Given the description of an element on the screen output the (x, y) to click on. 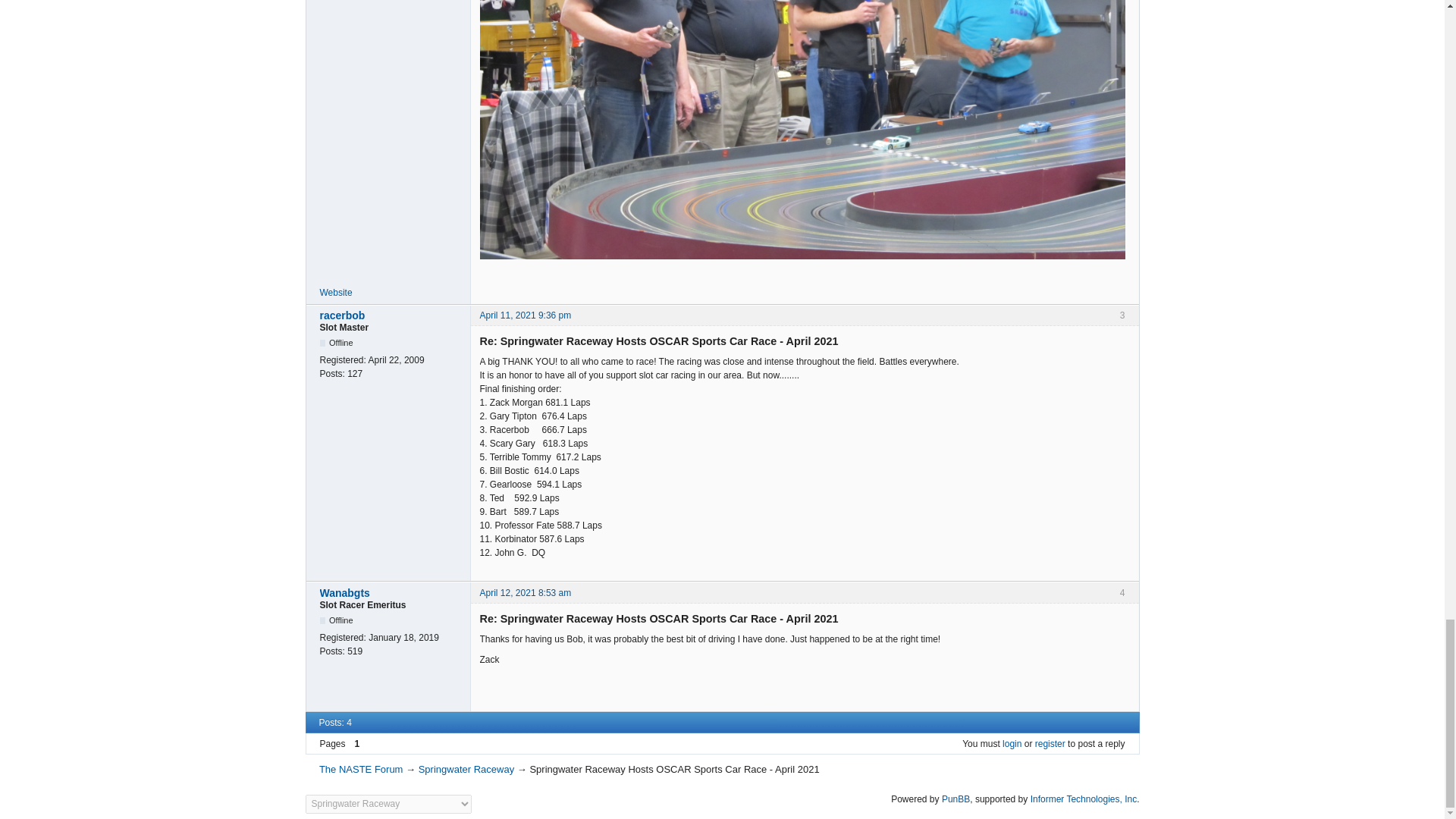
Go (485, 803)
Wanabgts (390, 592)
Website (336, 292)
Permanent link to this post (524, 593)
register (1050, 743)
Go to racerbob's profile (390, 315)
Springwater Raceway (466, 768)
Permanent link to this post (524, 315)
Go to Wanabgts's profile (390, 592)
PunBB (955, 798)
racerbob (390, 315)
login (1012, 743)
Informer Technologies, Inc (1083, 798)
April 12, 2021 8:53 am (524, 593)
April 11, 2021 9:36 pm (524, 315)
